Given the description of an element on the screen output the (x, y) to click on. 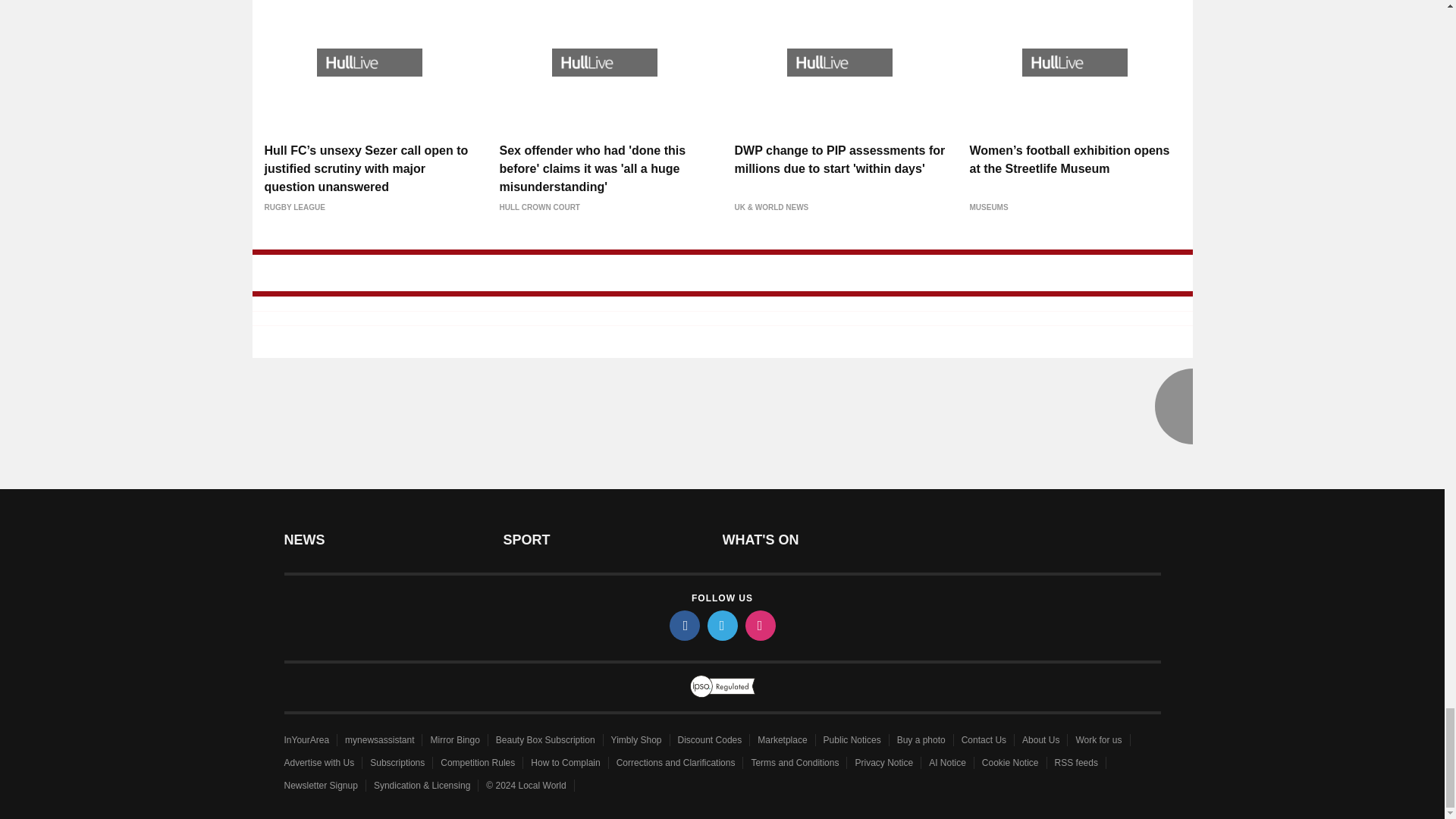
twitter (721, 625)
facebook (683, 625)
instagram (759, 625)
